Given the description of an element on the screen output the (x, y) to click on. 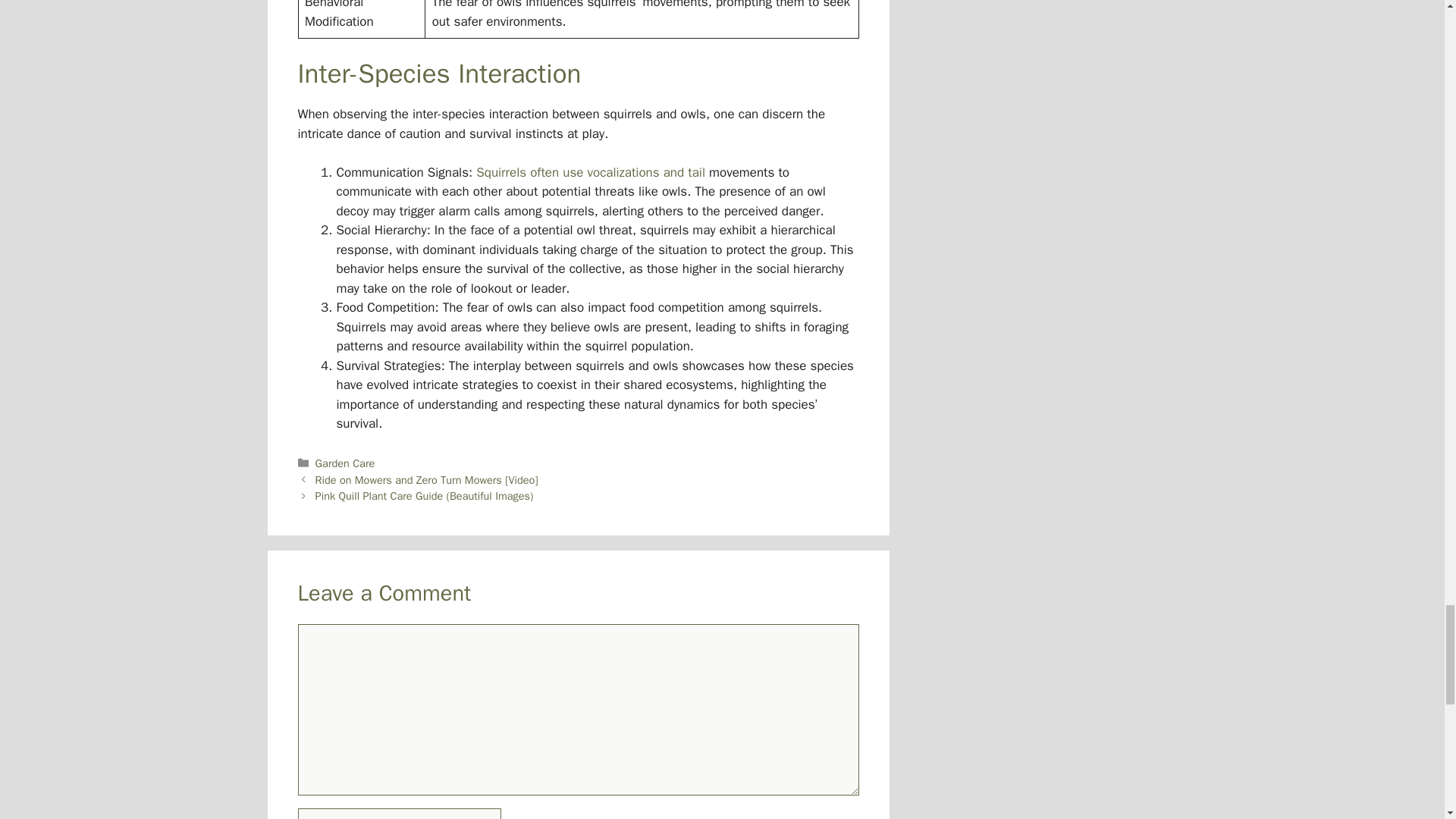
Squirrels often use vocalizations and tail (590, 172)
Garden Care (345, 463)
